Given the description of an element on the screen output the (x, y) to click on. 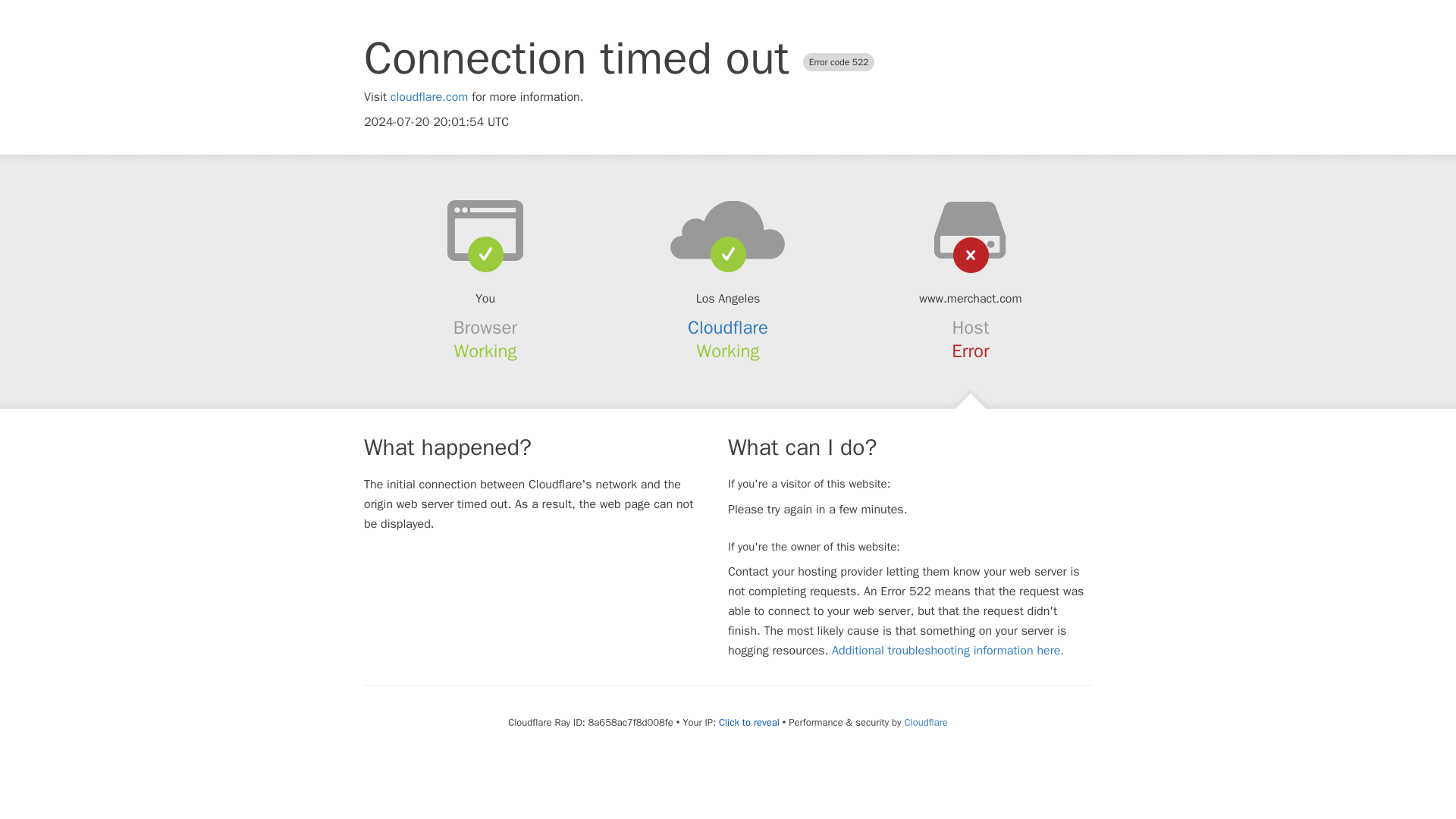
Additional troubleshooting information here. (947, 650)
Cloudflare (925, 721)
cloudflare.com (429, 96)
Click to reveal (748, 722)
Cloudflare (727, 327)
